Given the description of an element on the screen output the (x, y) to click on. 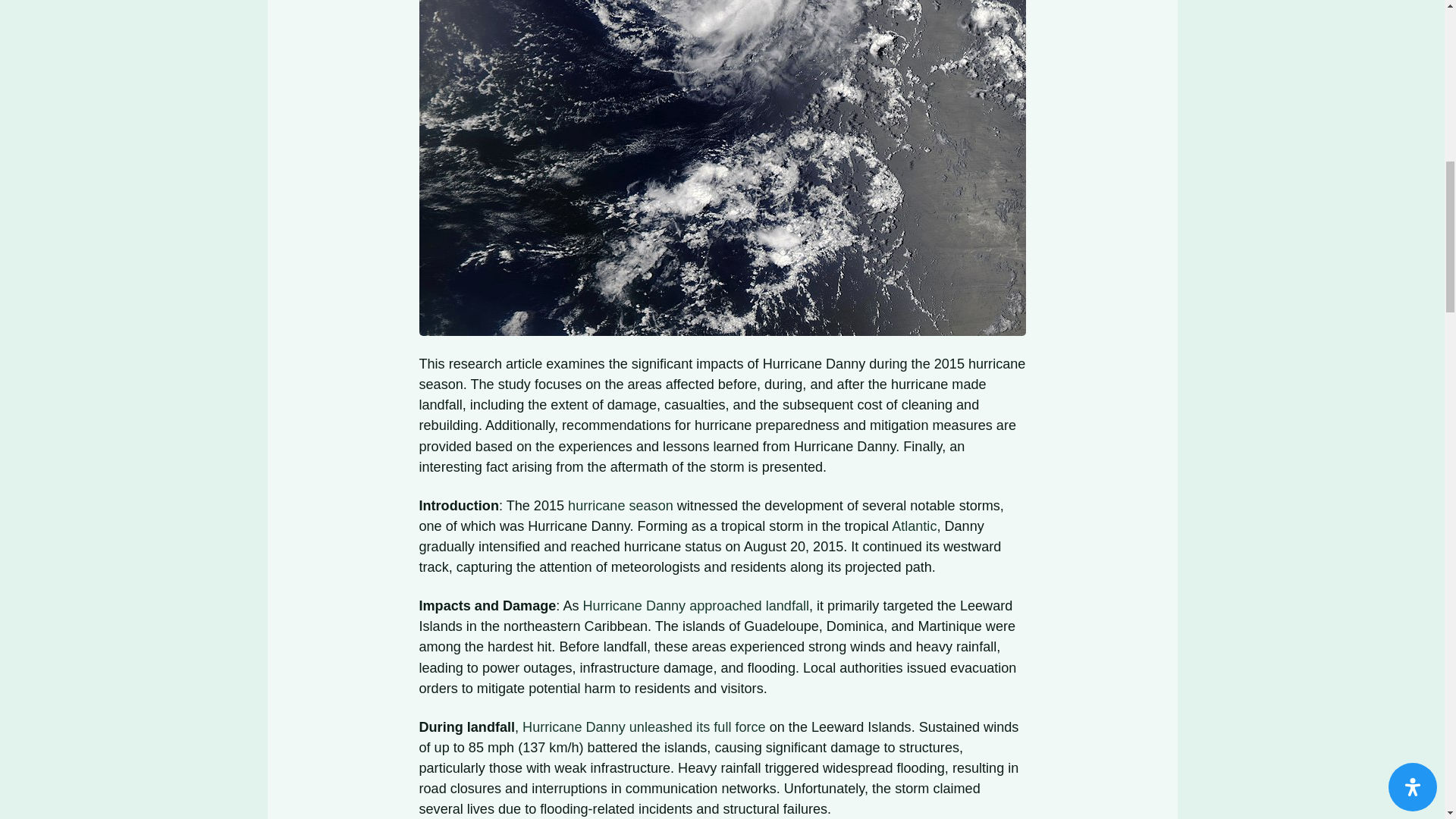
Hurricane Danny unleashed its full force (643, 726)
Hurricane Danny approached landfall (696, 605)
Atlantic (913, 525)
hurricane season (619, 505)
